Given the description of an element on the screen output the (x, y) to click on. 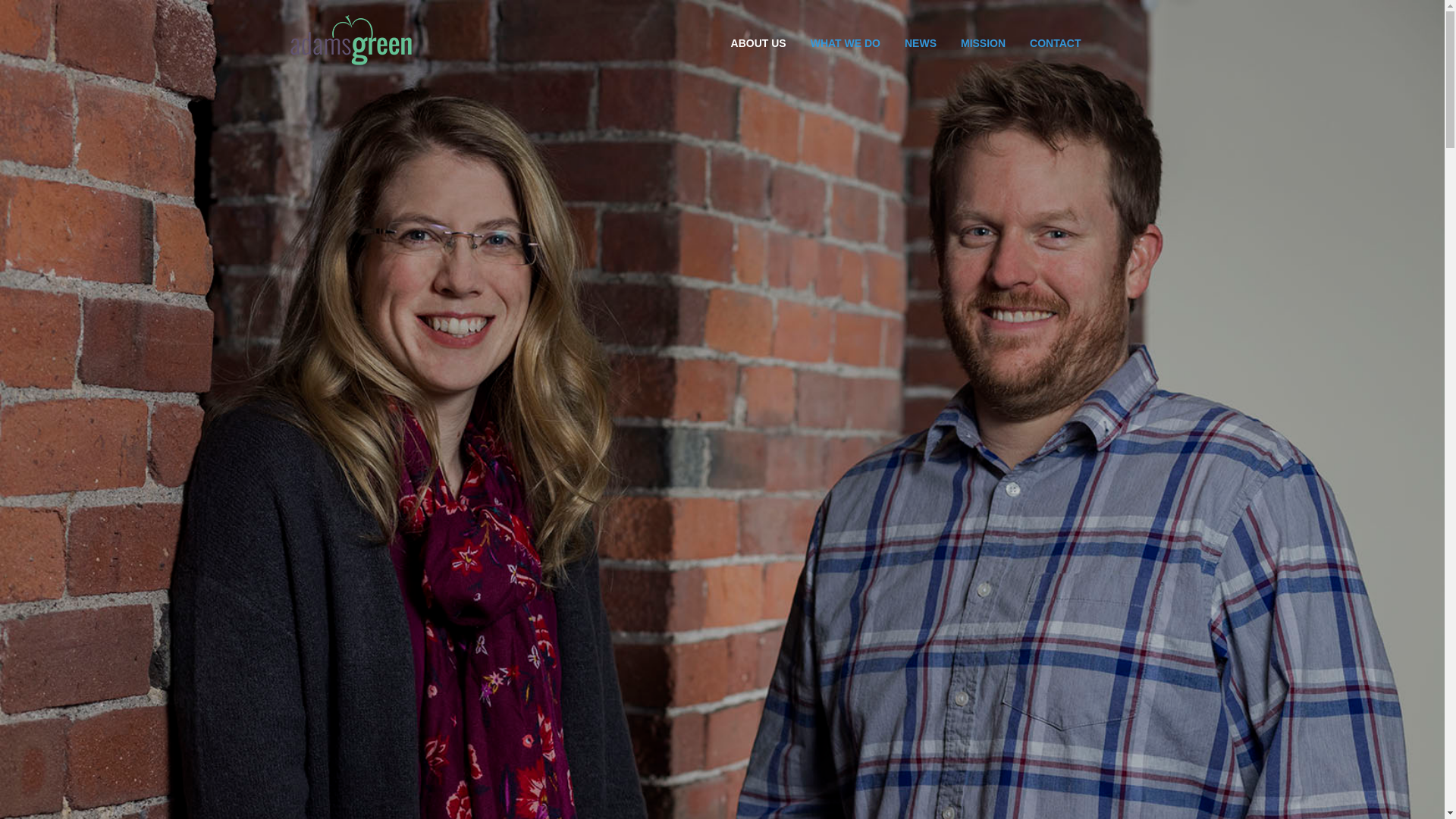
WHAT WE DO Element type: text (845, 42)
MISSION Element type: text (982, 42)
ABOUT US Element type: text (758, 42)
NEWS Element type: text (920, 42)
CONTACT Element type: text (1054, 42)
